Given the description of an element on the screen output the (x, y) to click on. 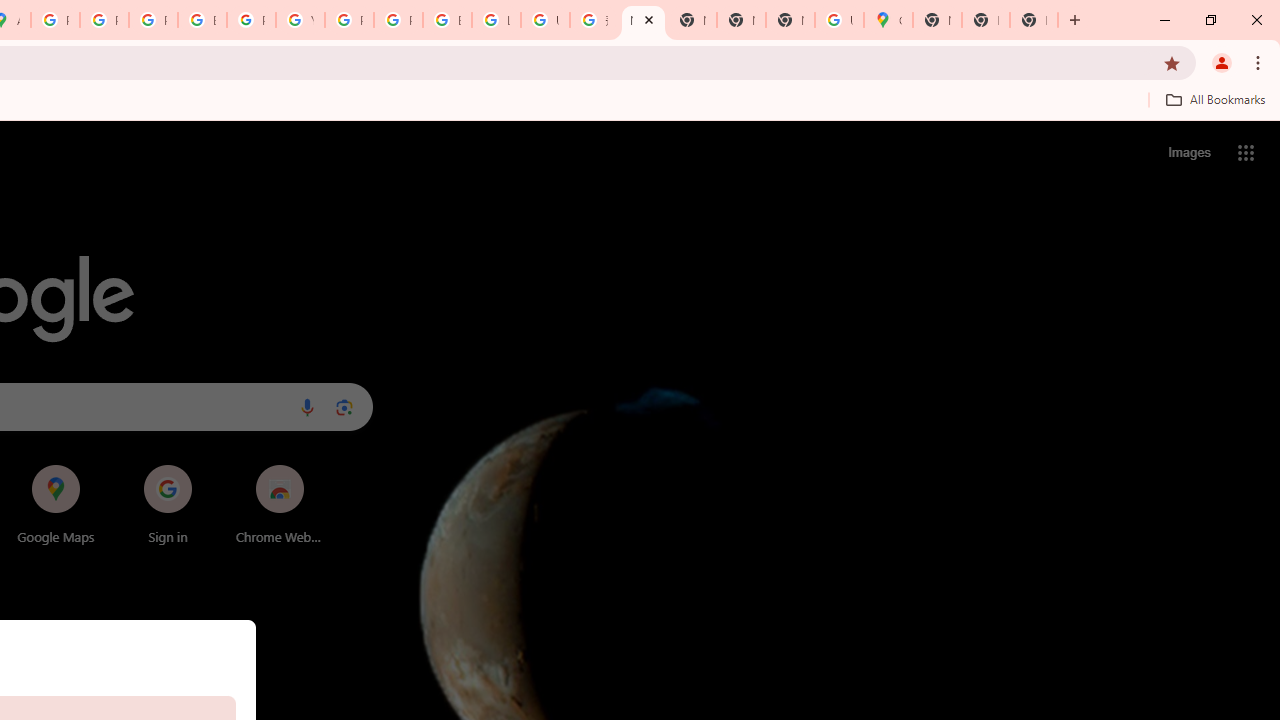
Privacy Help Center - Policies Help (153, 20)
New Tab (985, 20)
Google Maps (888, 20)
New Tab (1033, 20)
Use Google Maps in Space - Google Maps Help (839, 20)
New Tab (937, 20)
